Given the description of an element on the screen output the (x, y) to click on. 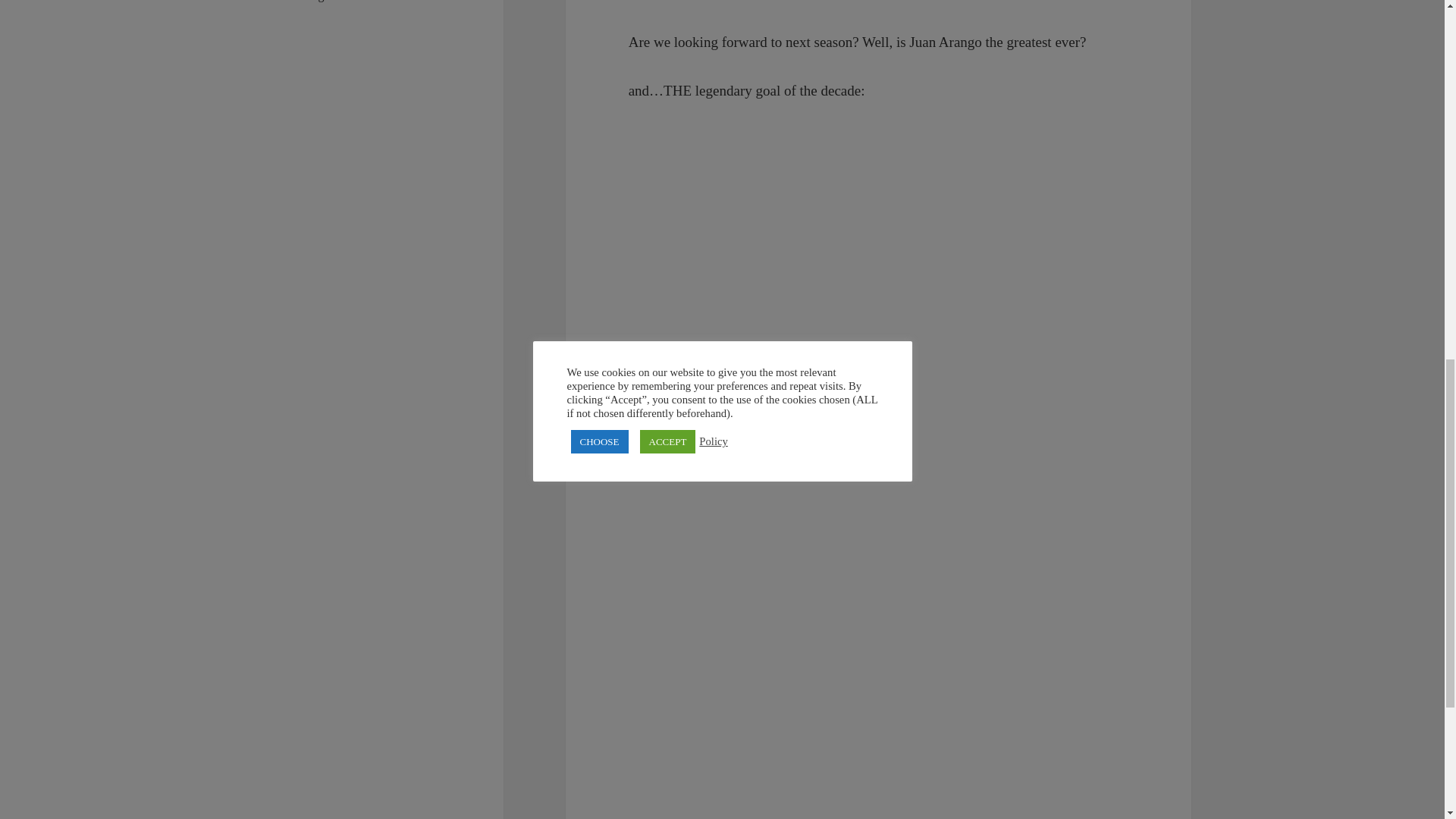
WordPress.org (288, 0)
